Given the description of an element on the screen output the (x, y) to click on. 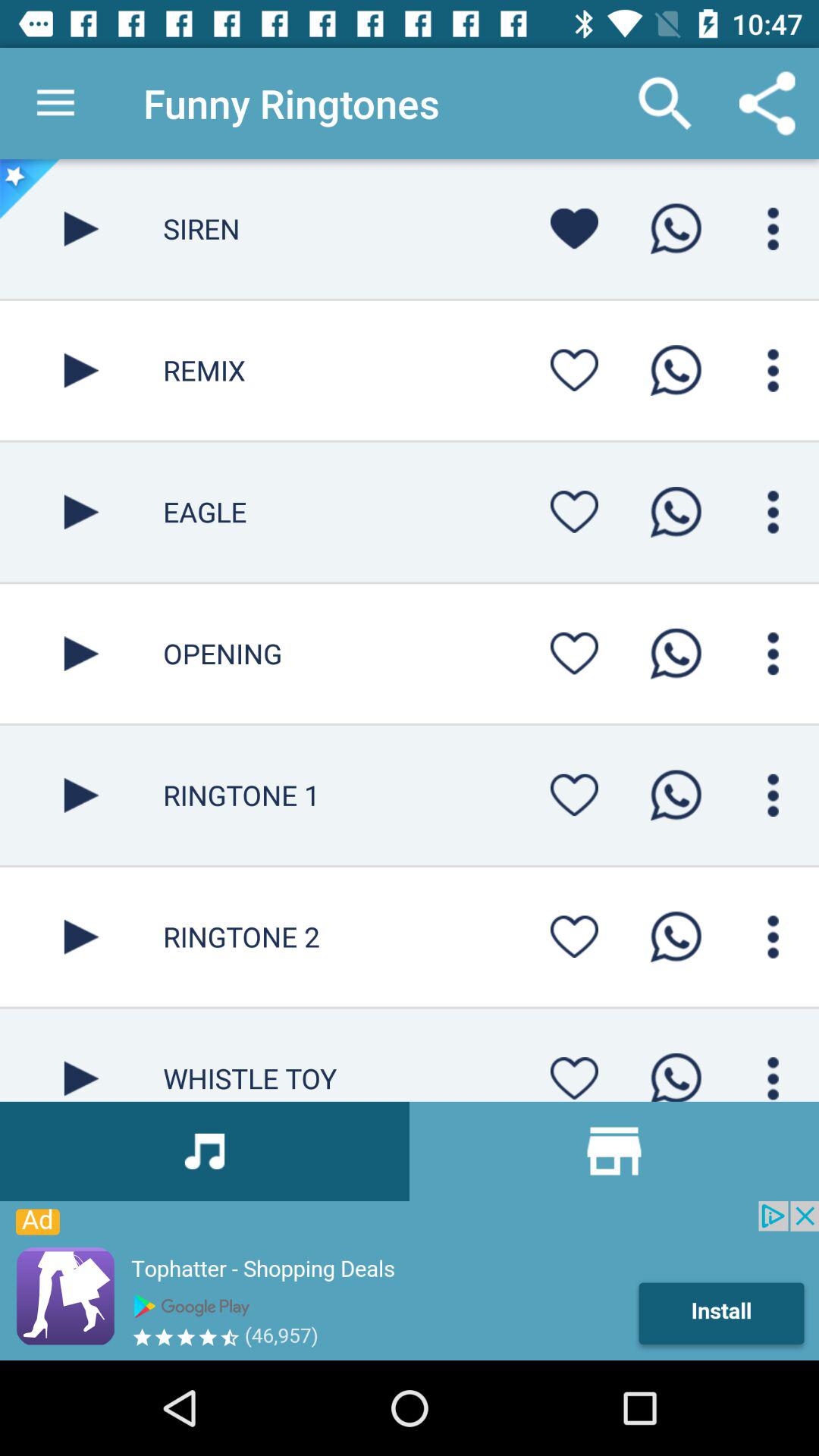
play this ringtone (81, 653)
